Given the description of an element on the screen output the (x, y) to click on. 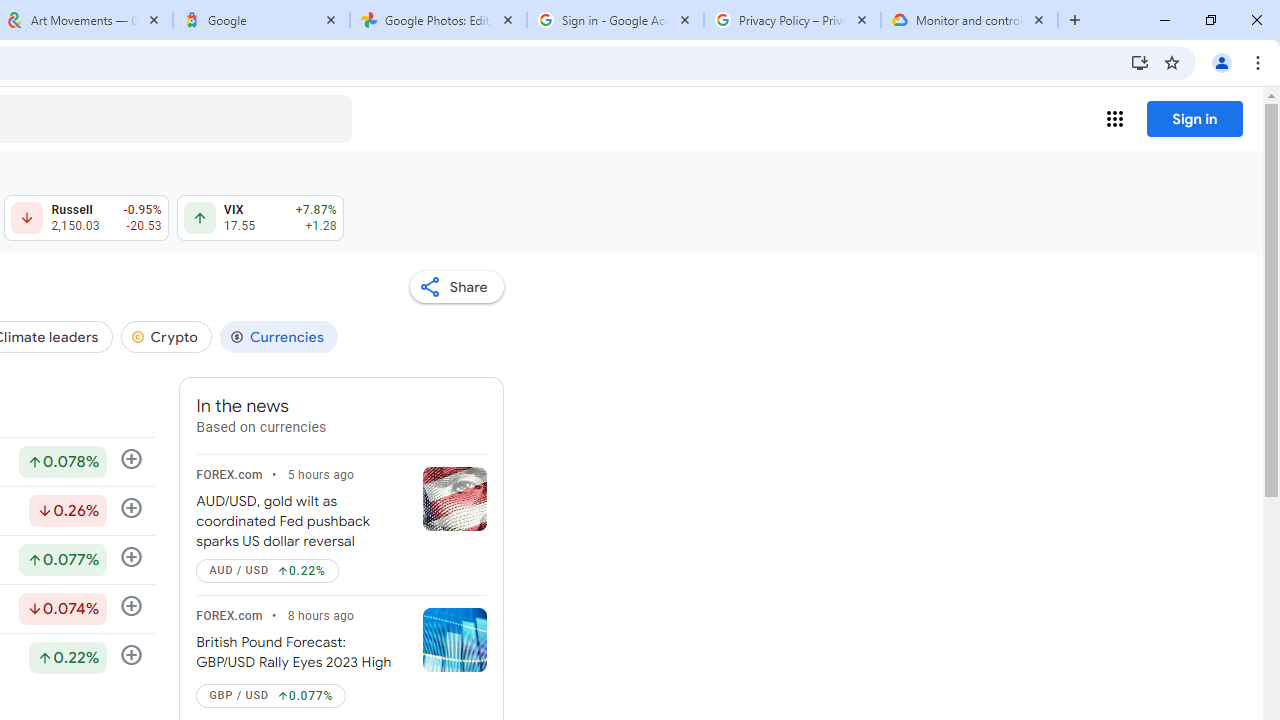
Russell 2,150.03 Down by 0.95% -20.53 (85, 218)
GBP / USD Up by 0.077% (270, 695)
Sign in - Google Accounts (615, 20)
Share (456, 286)
Google (260, 20)
Follow (131, 655)
